Given the description of an element on the screen output the (x, y) to click on. 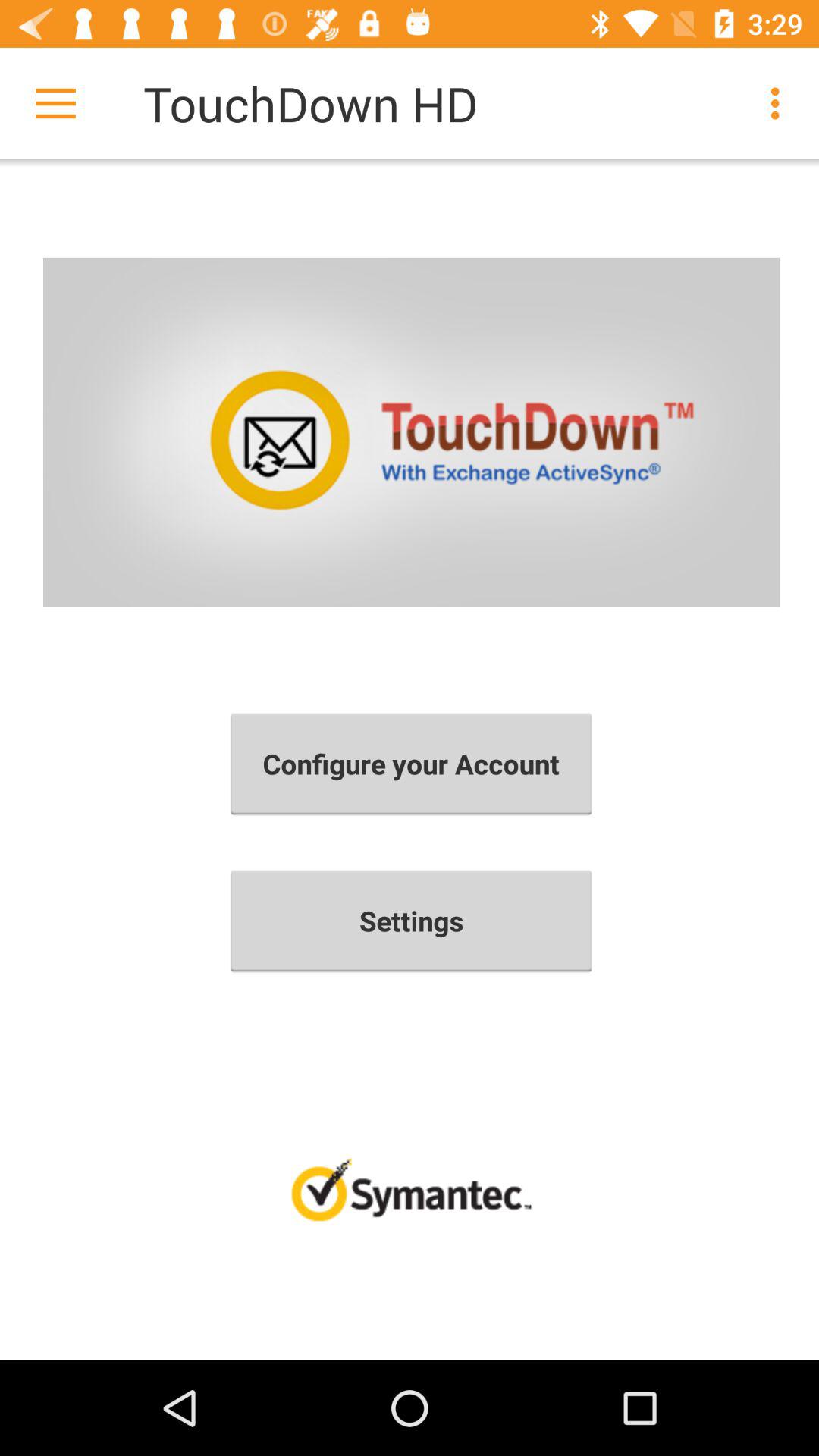
launch icon next to touchdown hd item (779, 103)
